Given the description of an element on the screen output the (x, y) to click on. 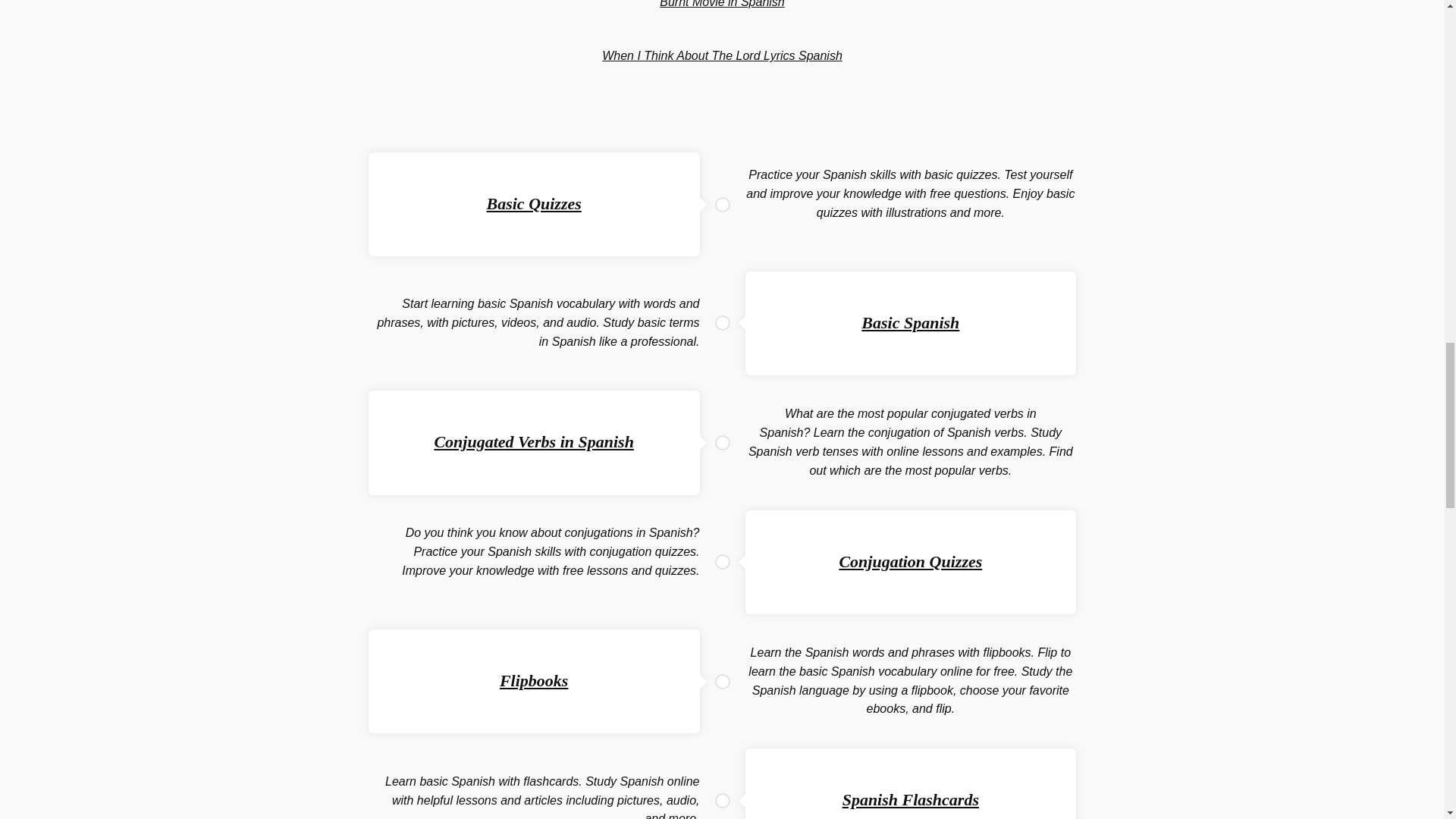
Basic Quizzes (533, 203)
Spanish Flashcards (910, 799)
Flipbooks (533, 680)
When I Think About The Lord Lyrics Spanish (722, 55)
Basic Spanish (910, 322)
Burnt Movie in Spanish (721, 4)
Conjugated Verbs in Spanish (533, 441)
Conjugation Quizzes (909, 561)
